Given the description of an element on the screen output the (x, y) to click on. 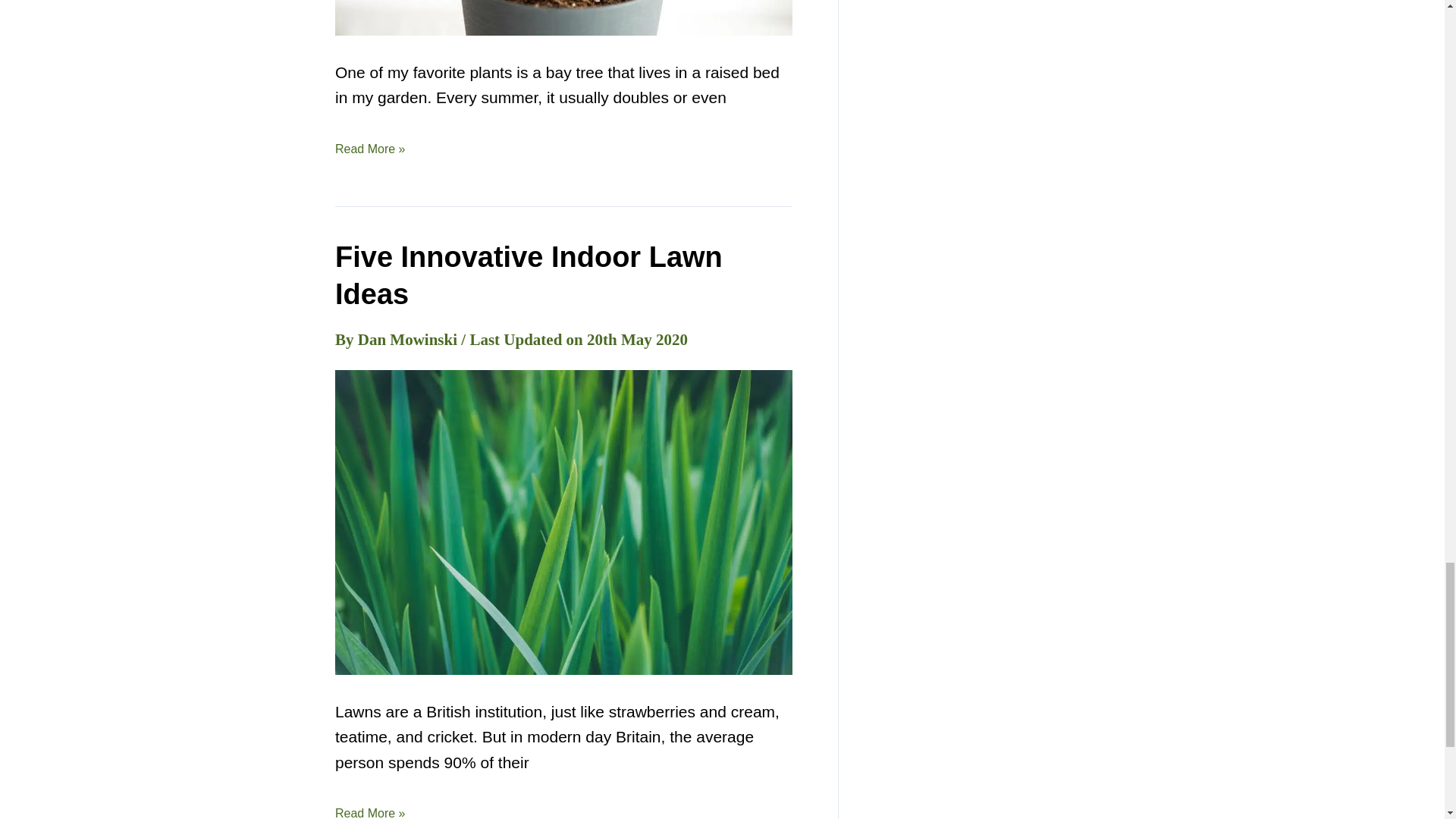
View all posts by Dan Mowinski (409, 339)
